Given the description of an element on the screen output the (x, y) to click on. 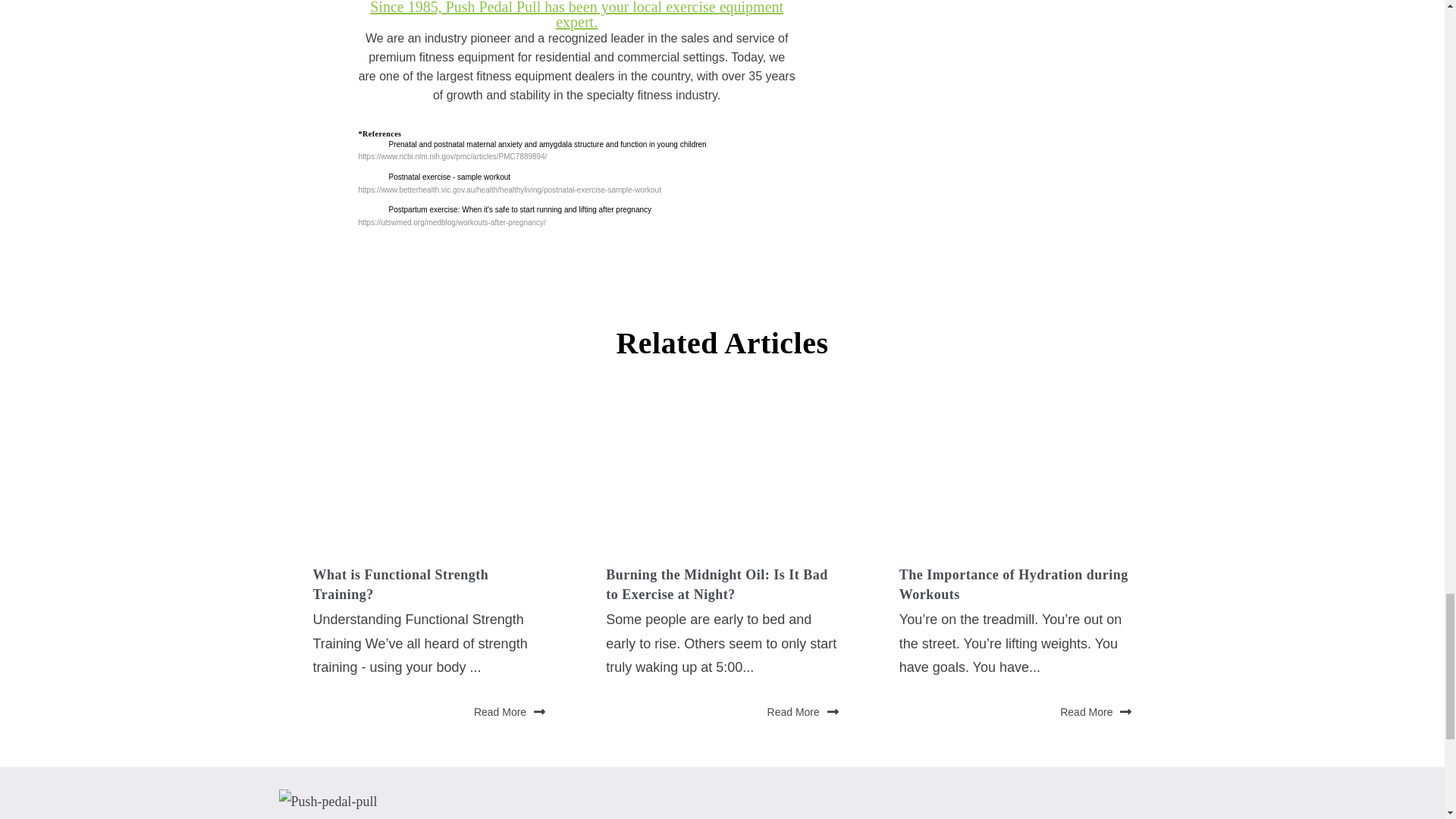
Push-pedal-pull (328, 801)
